Given the description of an element on the screen output the (x, y) to click on. 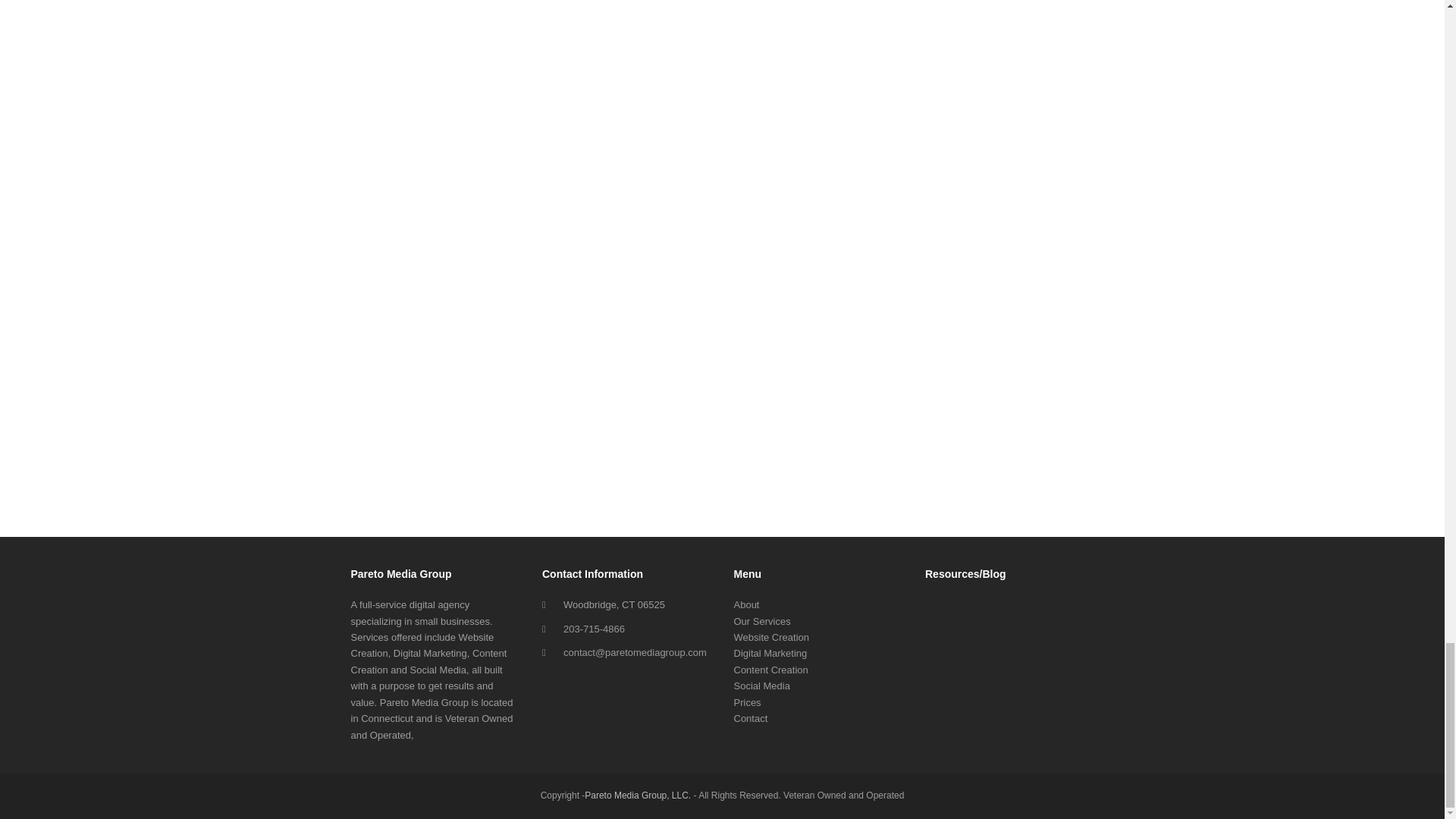
Prices (747, 702)
Send (722, 458)
Our Services (761, 621)
About (746, 604)
Social Media (761, 685)
Digital Marketing (770, 653)
Website Creation (771, 636)
203-715-4866 (593, 628)
Contact (750, 717)
Content Creation (770, 669)
